Given the description of an element on the screen output the (x, y) to click on. 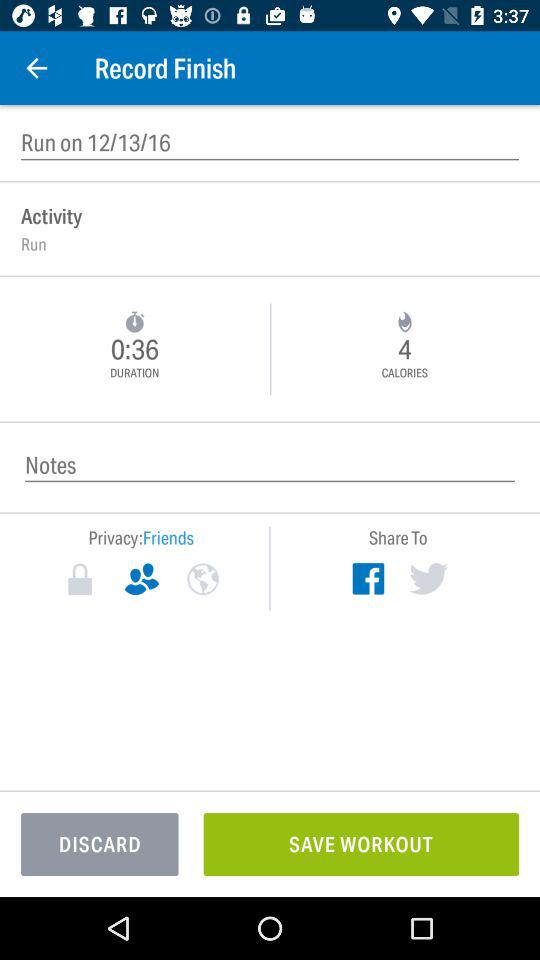
select icon below share to (368, 578)
